Given the description of an element on the screen output the (x, y) to click on. 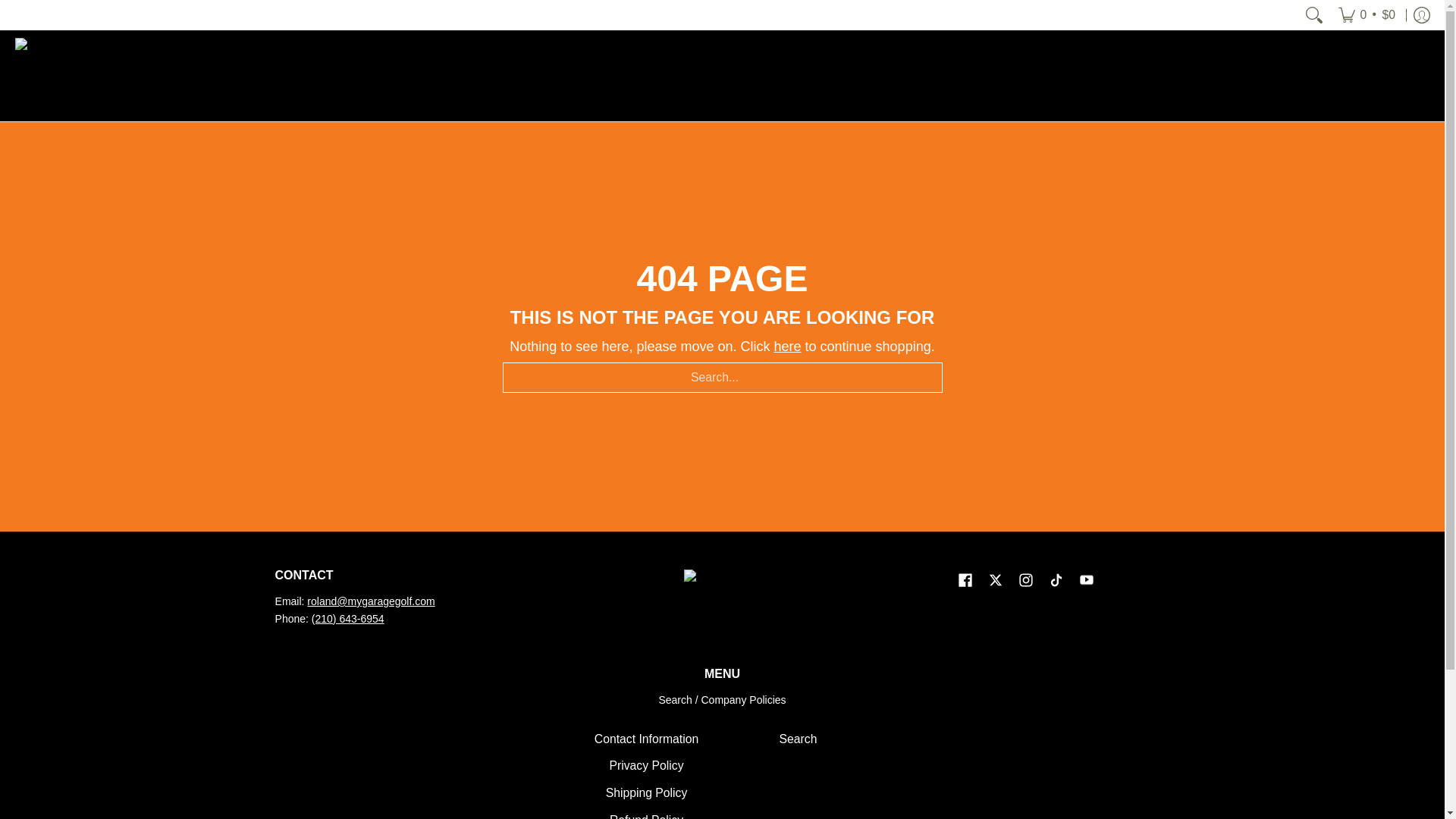
here (786, 346)
Contact Information (646, 738)
Privacy Policy (646, 766)
Log in (1421, 15)
Cart (1366, 15)
